Given the description of an element on the screen output the (x, y) to click on. 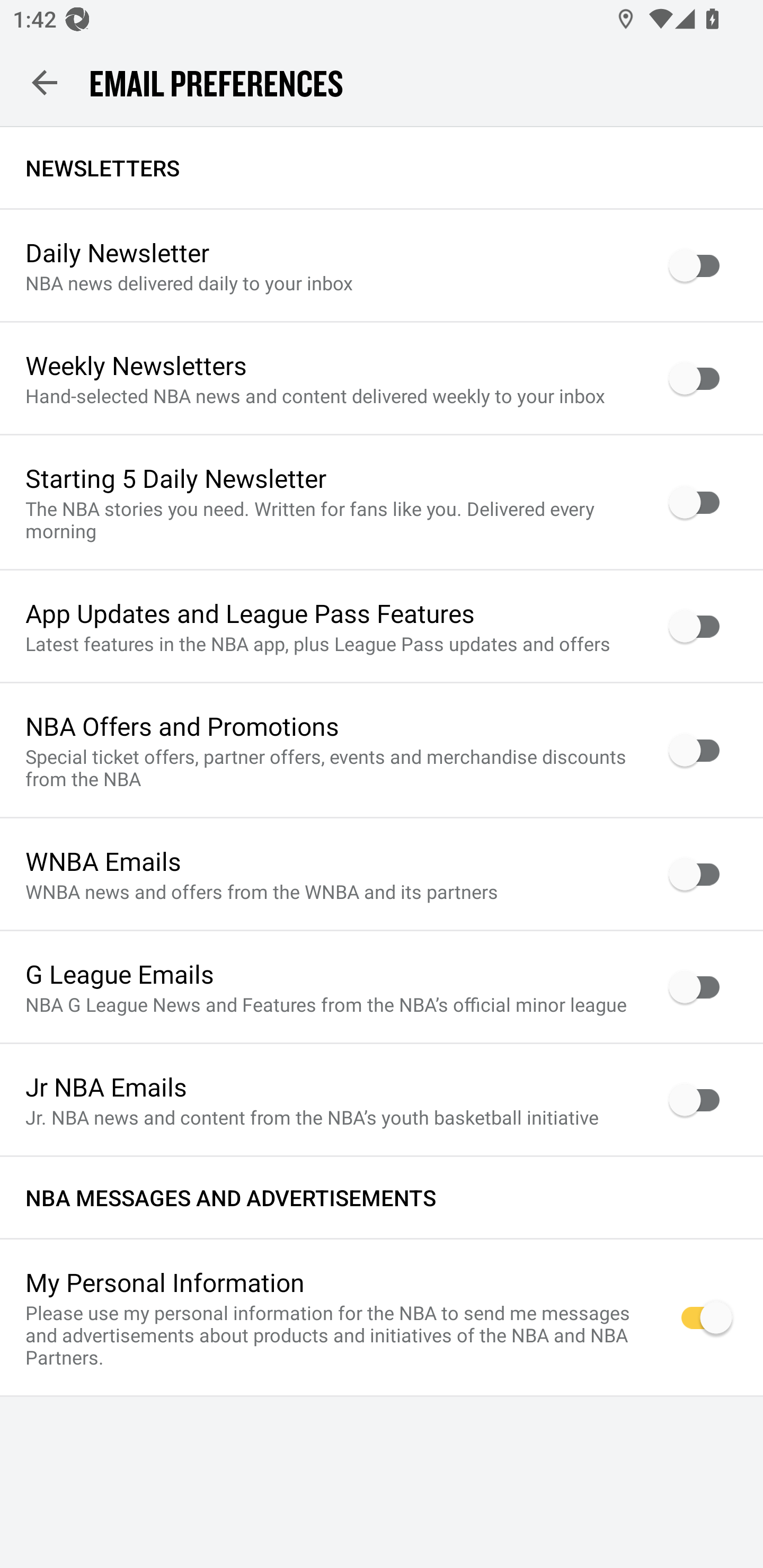
Navigate up (44, 82)
